Given the description of an element on the screen output the (x, y) to click on. 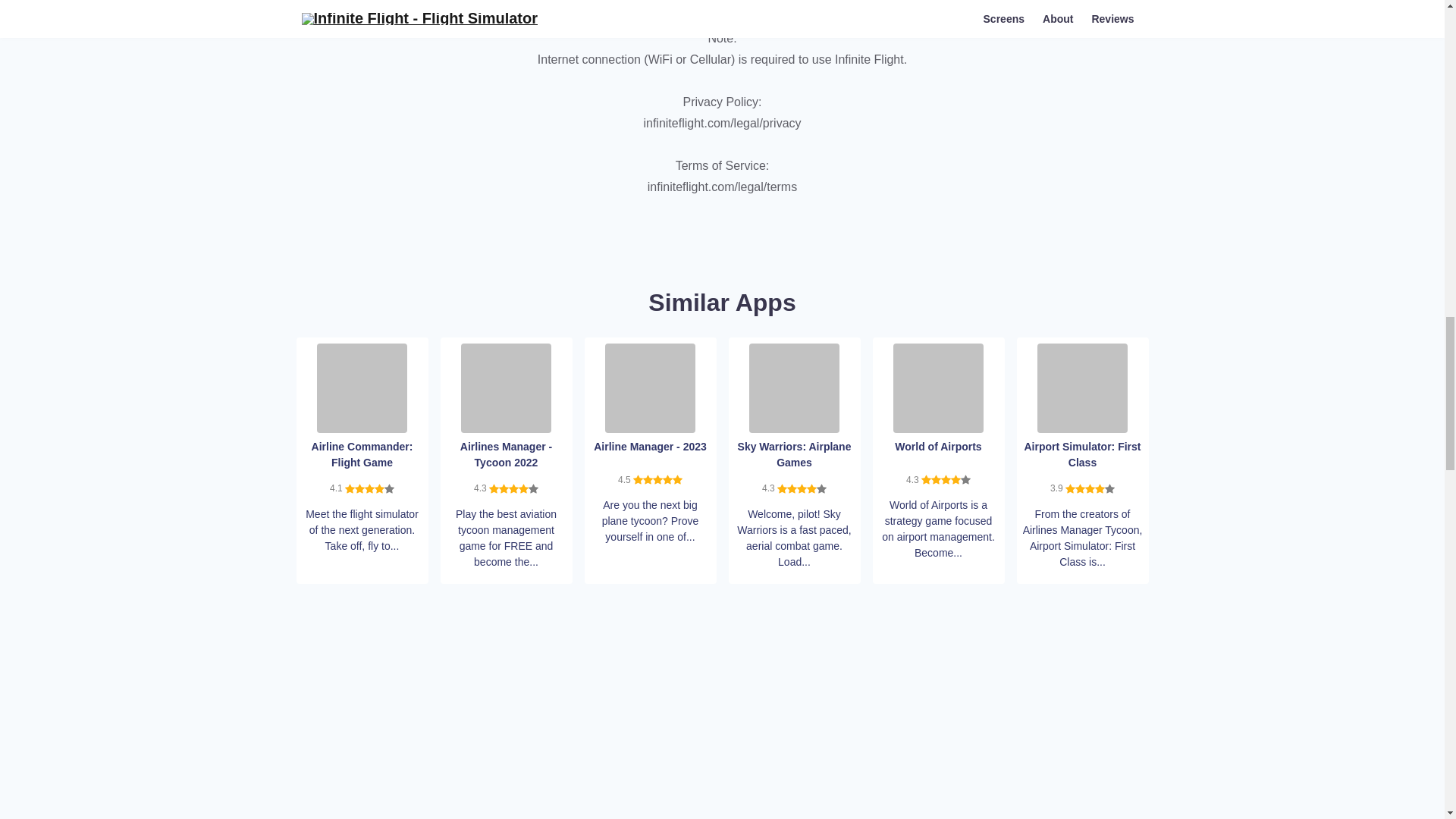
Airline Commander: Flight Game (362, 387)
Airport Simulator: First Class (1081, 387)
World of Airports (938, 387)
Airlines Manager - Tycoon 2022 (506, 387)
Airline Manager - 2023 (650, 387)
Sky Warriors: Airplane Games (794, 387)
